Given the description of an element on the screen output the (x, y) to click on. 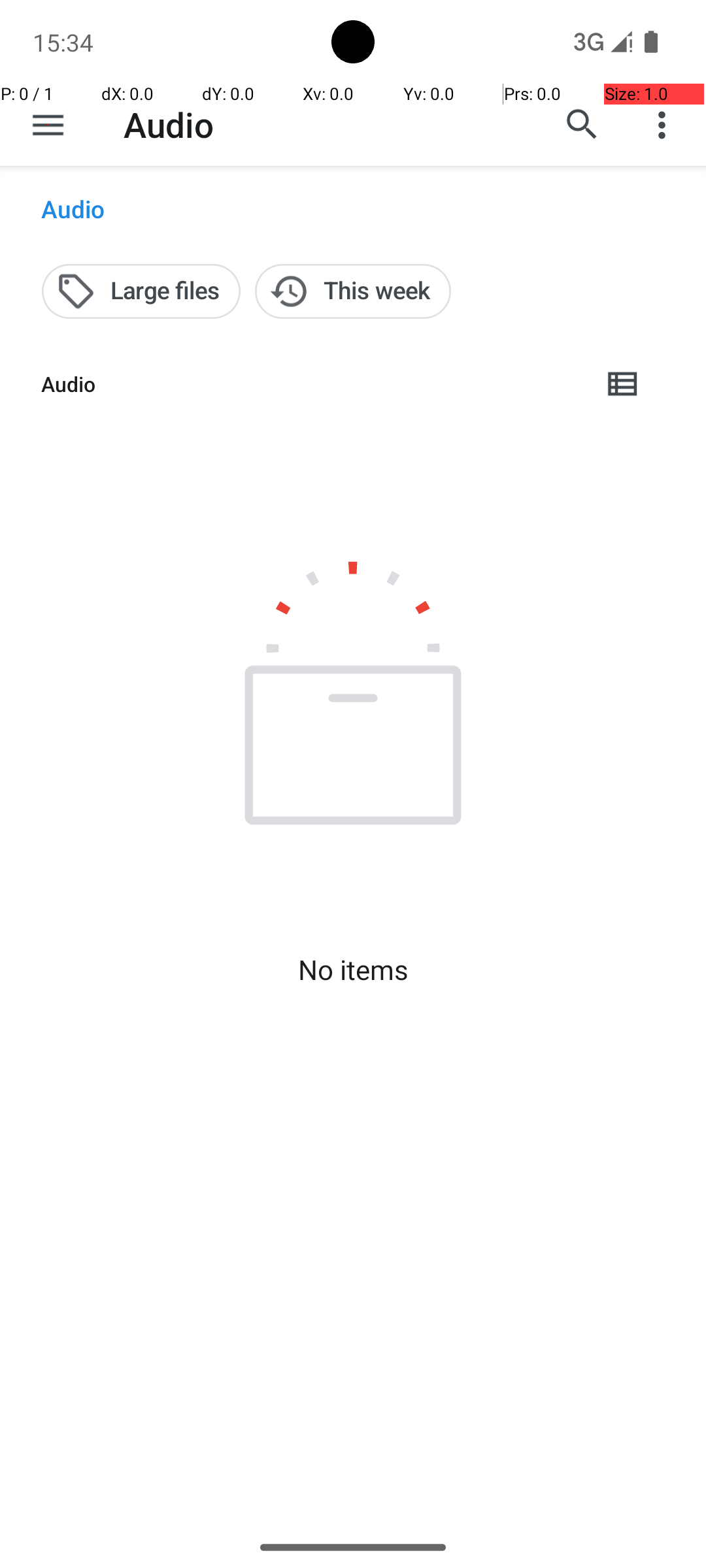
Show roots Element type: android.widget.ImageButton (48, 124)
Audio Element type: android.widget.TextView (168, 124)
List view Element type: android.widget.TextView (622, 384)
Large files Element type: android.widget.CompoundButton (140, 291)
This week Element type: android.widget.CompoundButton (352, 291)
No items Element type: android.widget.TextView (352, 968)
